Given the description of an element on the screen output the (x, y) to click on. 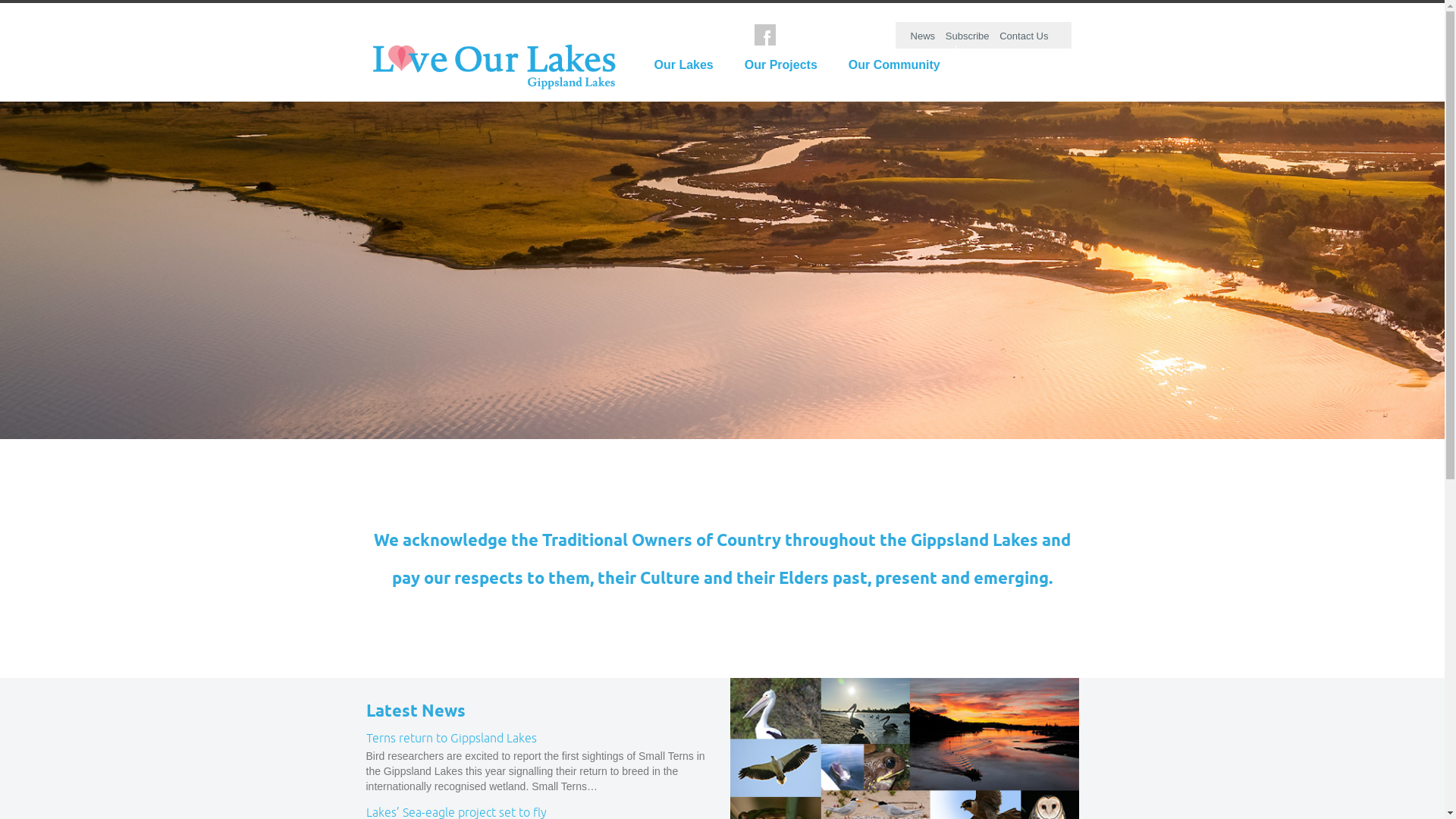
News Element type: text (922, 35)
facebook Element type: text (764, 34)
Subscribe Element type: text (967, 35)
Our Projects Element type: text (780, 64)
instagram Element type: text (739, 34)
Terns return to Gippsland Lakes Element type: text (450, 738)
Our Community Element type: text (894, 64)
Contact Us Element type: text (1023, 35)
Our Lakes Element type: text (683, 64)
